Given the description of an element on the screen output the (x, y) to click on. 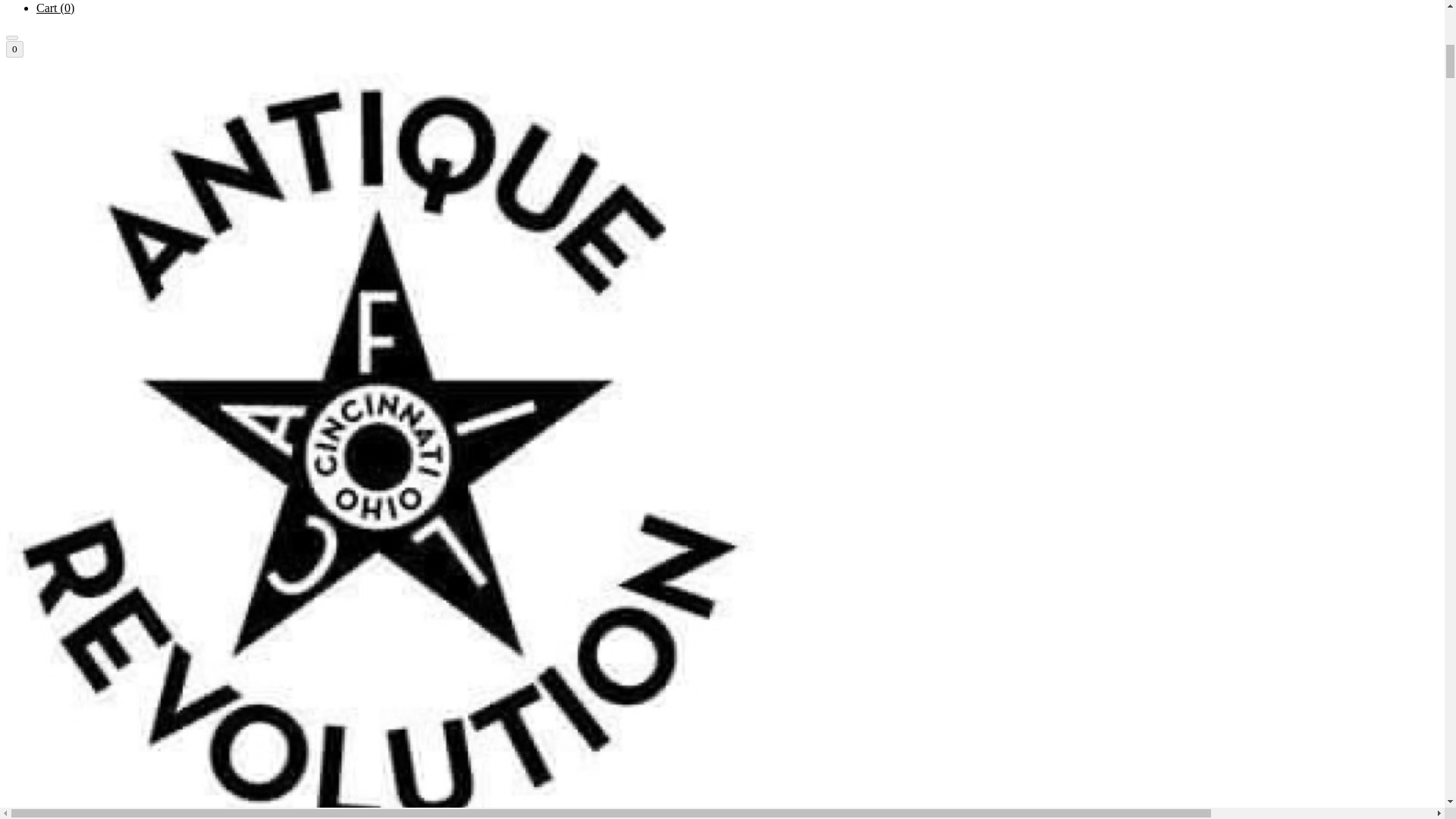
0 (14, 48)
